Given the description of an element on the screen output the (x, y) to click on. 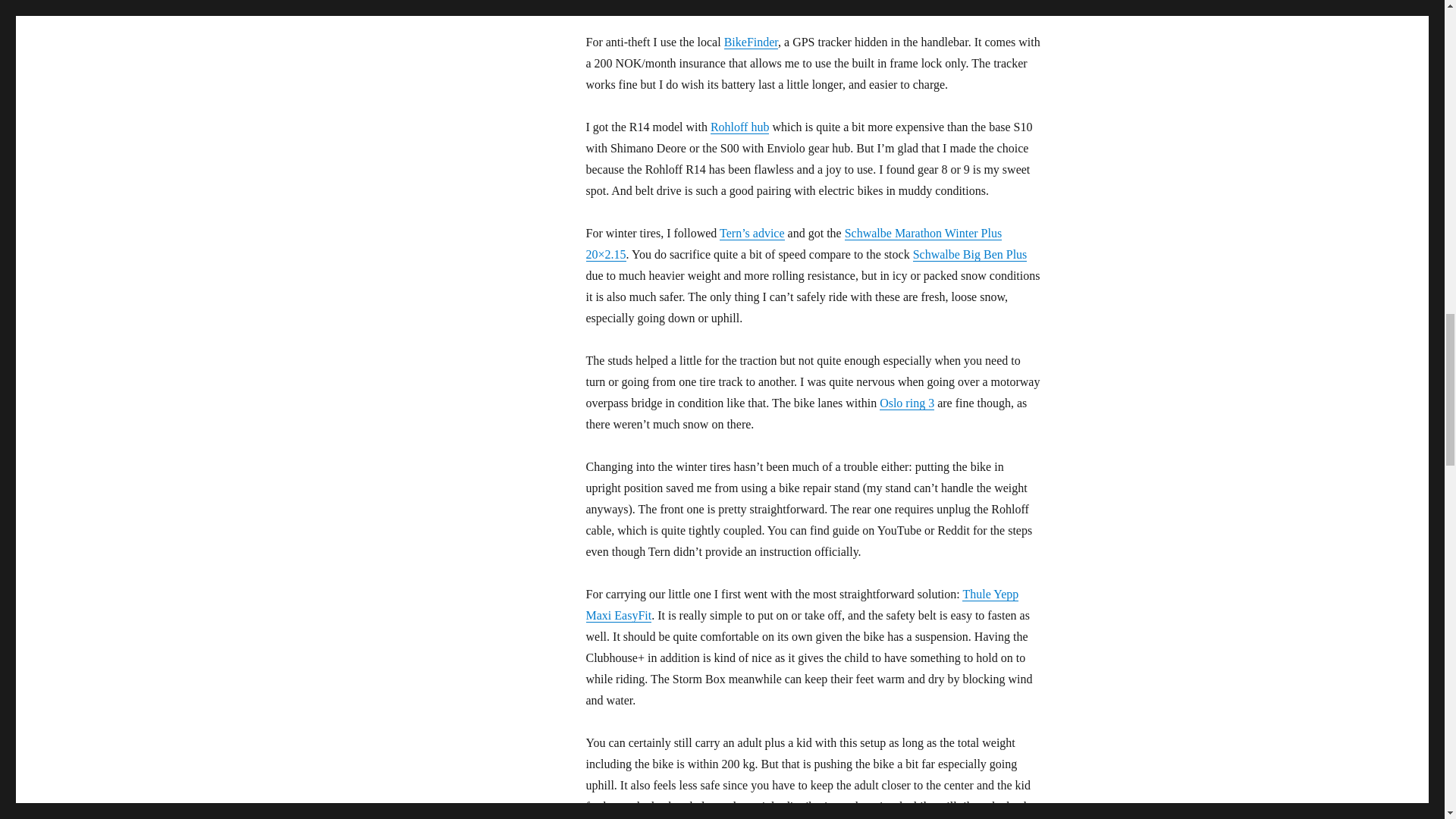
Schwalbe Big Ben Plus (969, 254)
Thule Yepp Maxi EasyFit (801, 604)
Oslo ring 3 (906, 402)
Rohloff hub (739, 126)
BikeFinder (750, 42)
